Given the description of an element on the screen output the (x, y) to click on. 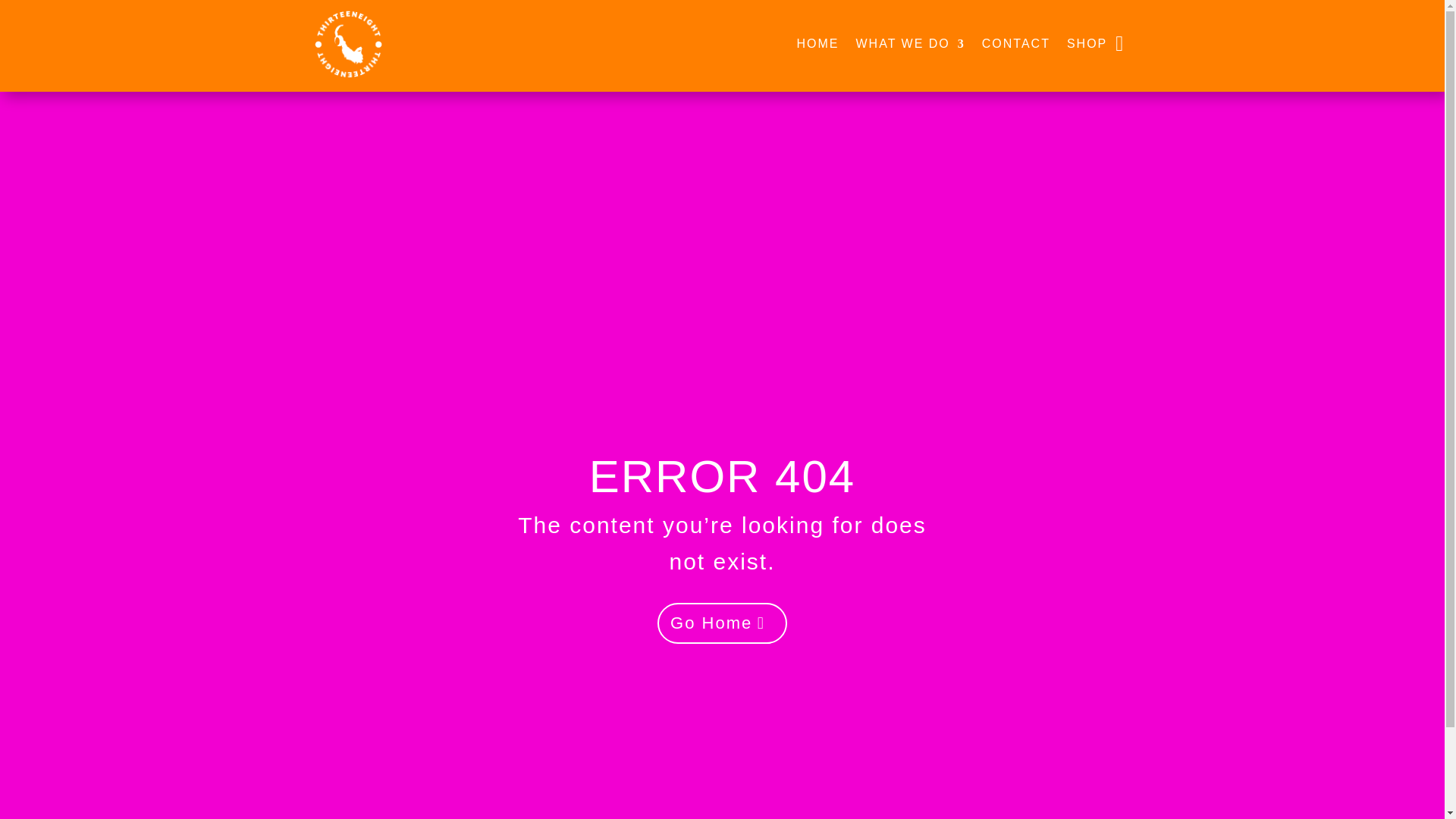
Go Home (722, 623)
WHAT WE DO (909, 43)
CONTACT (1015, 43)
